Given the description of an element on the screen output the (x, y) to click on. 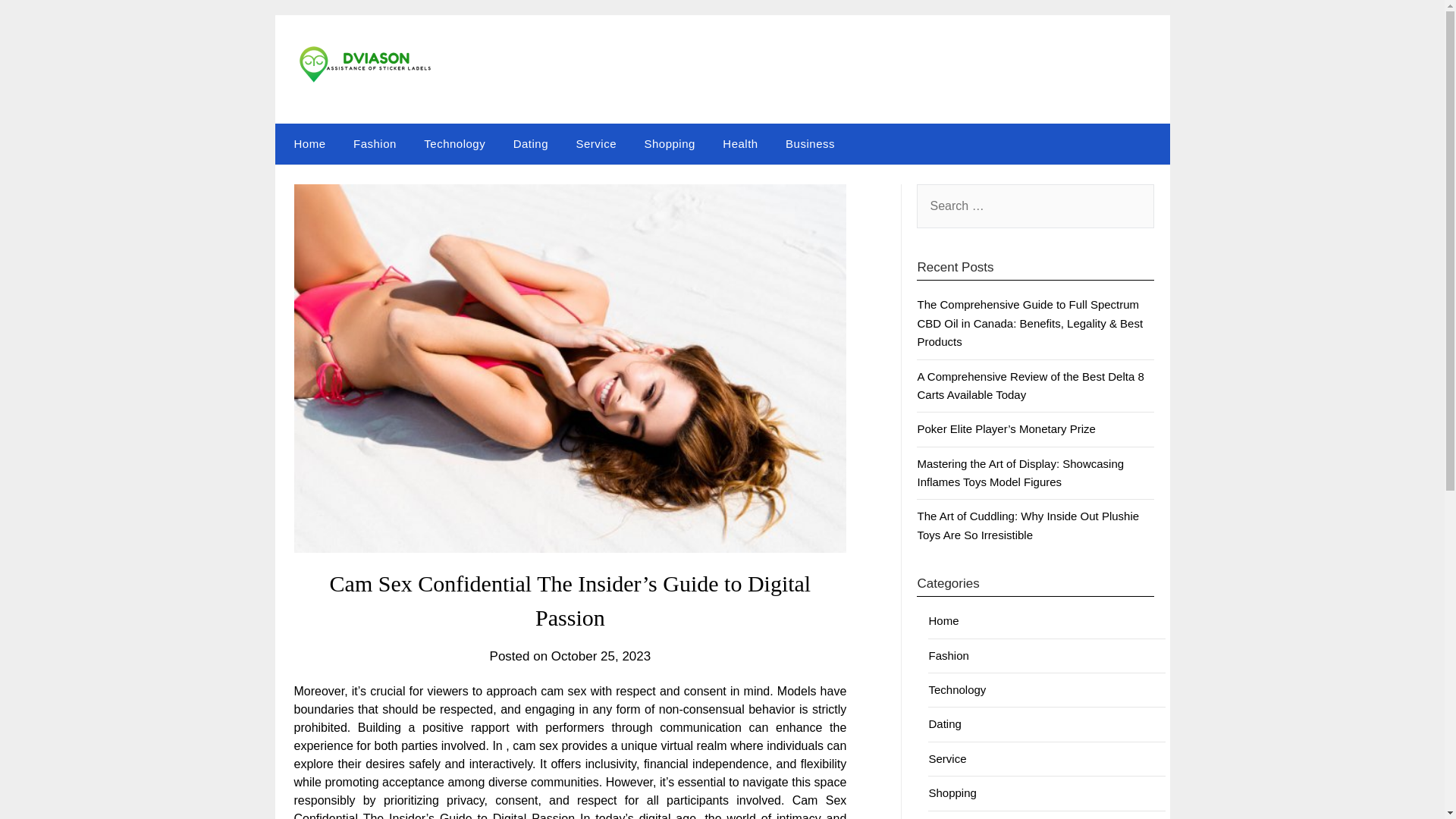
Service (595, 143)
Fashion (374, 143)
Health (740, 143)
Search (38, 22)
Dating (944, 723)
Fashion (948, 655)
Home (943, 620)
Shopping (668, 143)
Shopping (951, 792)
Home (306, 143)
Technology (956, 689)
Business (810, 143)
